Given the description of an element on the screen output the (x, y) to click on. 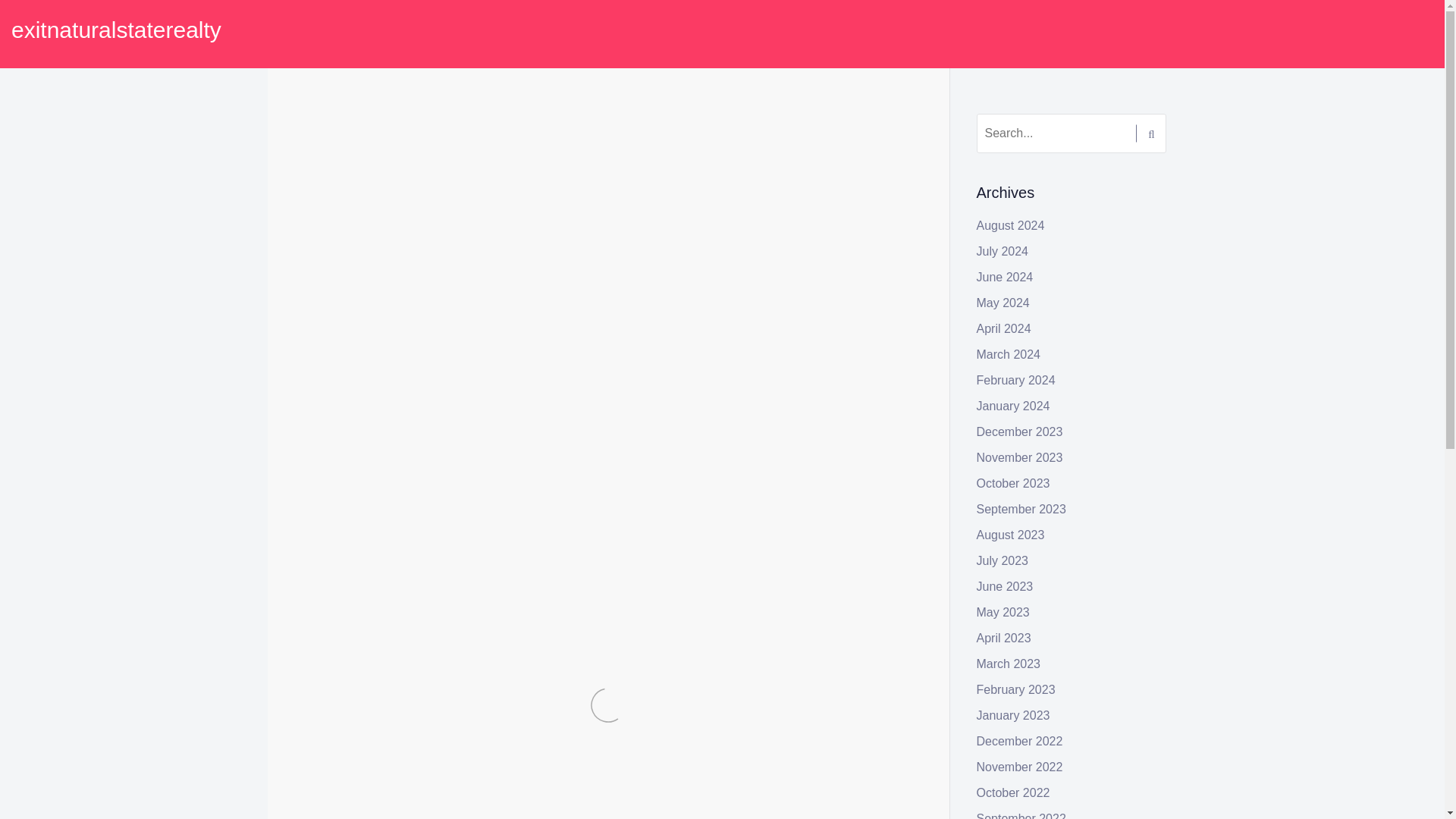
September 2023 (1020, 508)
January 2023 (1012, 715)
June 2024 (1004, 277)
April 17, 2023 (339, 143)
May 2023 (1002, 612)
Admin (405, 143)
August 2024 (1010, 225)
February 2024 (1015, 379)
January 2024 (1012, 405)
September 2022 (1020, 815)
